Given the description of an element on the screen output the (x, y) to click on. 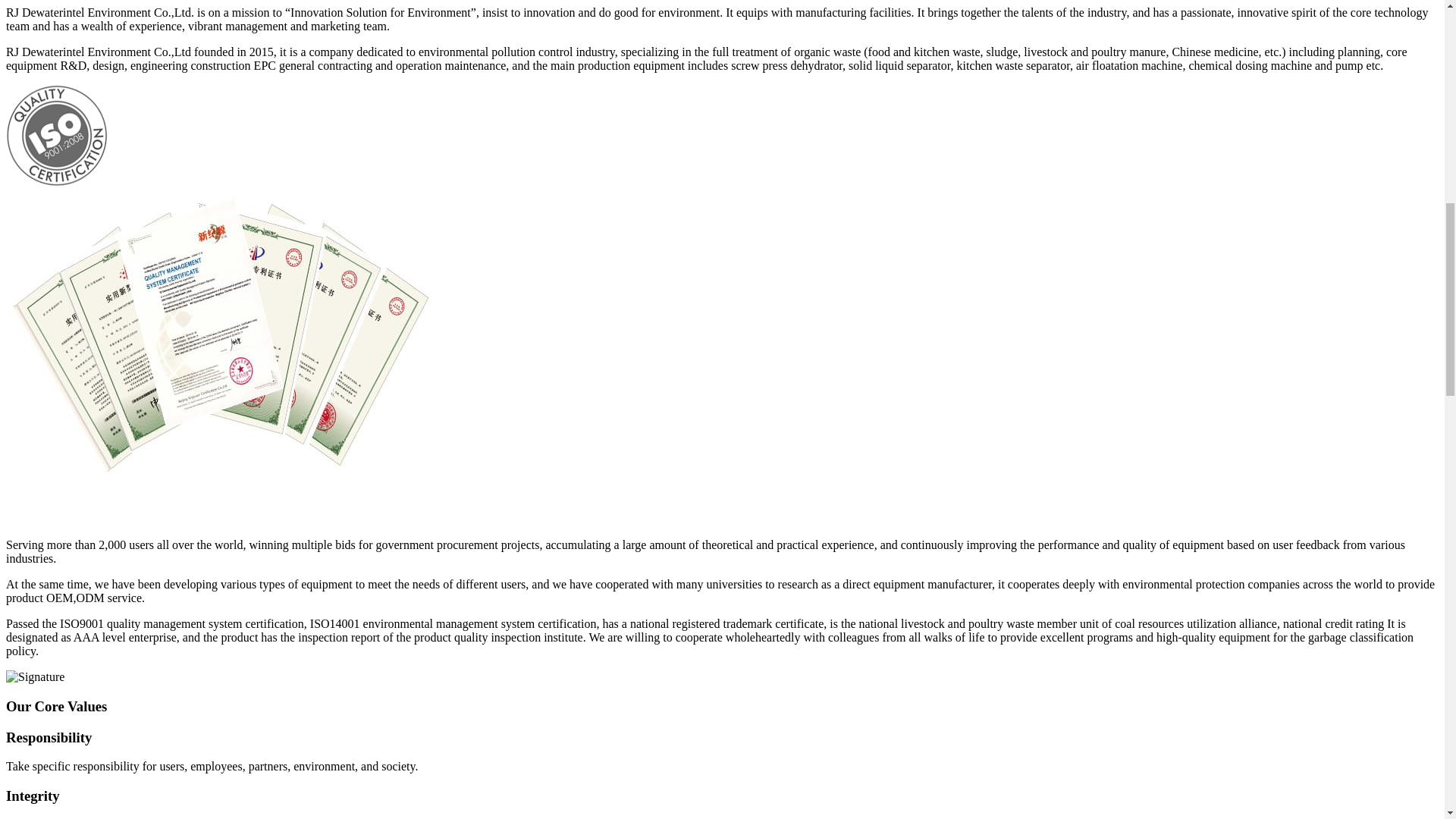
RepairPlus Gallery (26, 518)
